Given the description of an element on the screen output the (x, y) to click on. 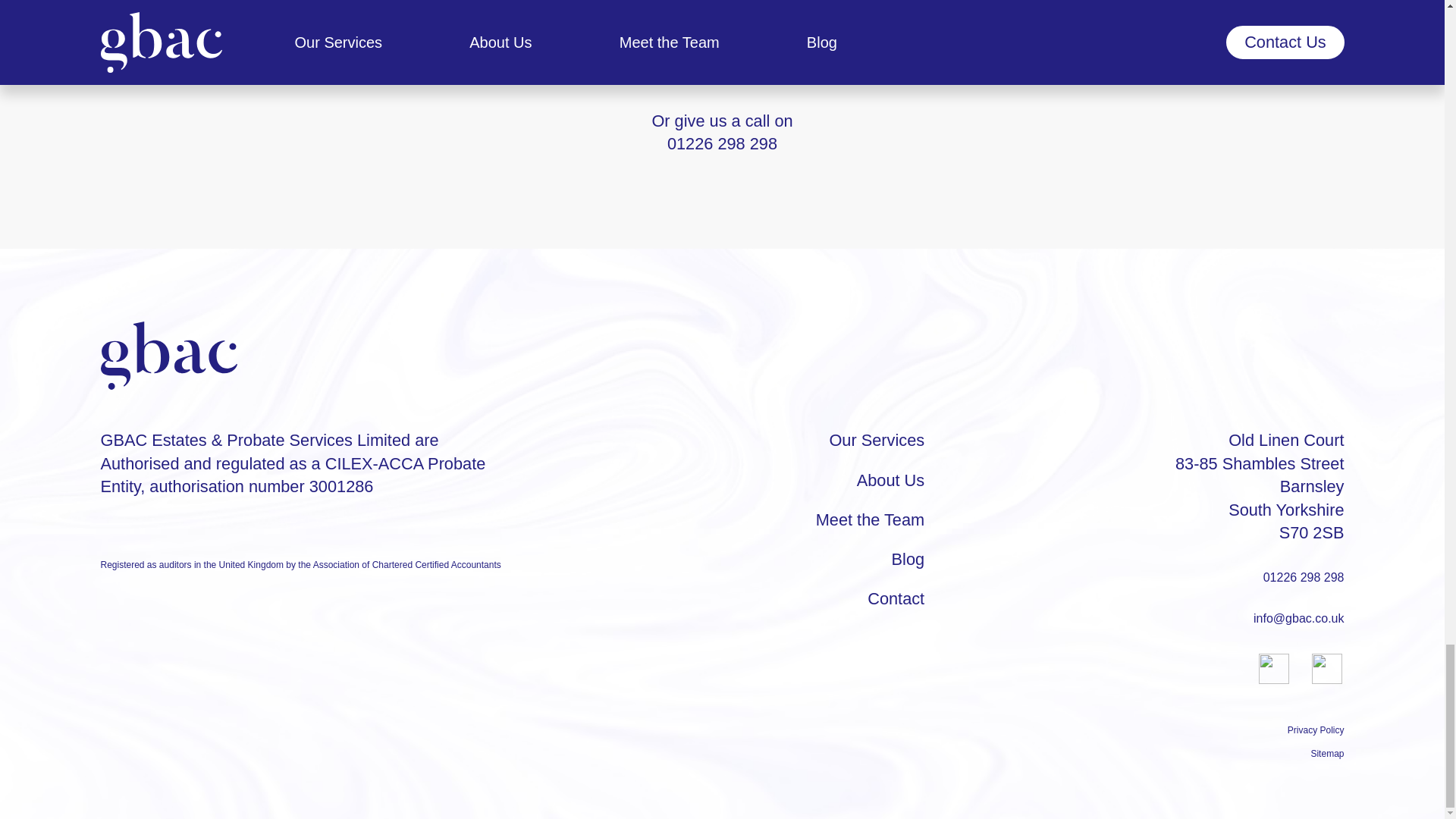
Blog (907, 558)
Privacy Policy (1315, 729)
Contact (895, 598)
Meet the Team (869, 519)
Send message (720, 56)
01226 298 298 (1303, 576)
01226 298 298 (721, 143)
Sitemap (1326, 753)
About Us (890, 479)
Our Services (876, 439)
